Given the description of an element on the screen output the (x, y) to click on. 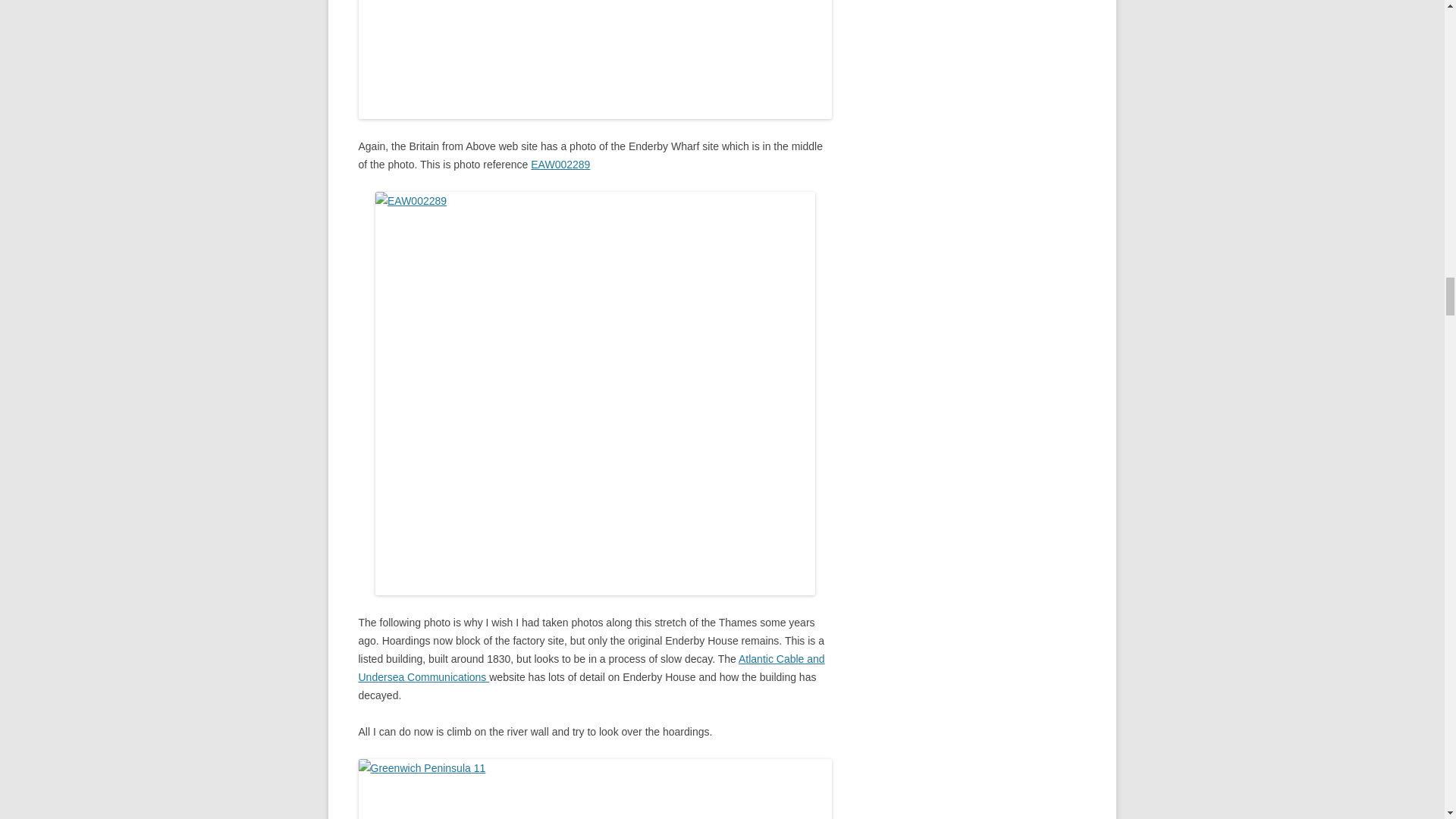
EAW002289 (560, 164)
Atlantic Cable and Undersea Communications (591, 667)
